Given the description of an element on the screen output the (x, y) to click on. 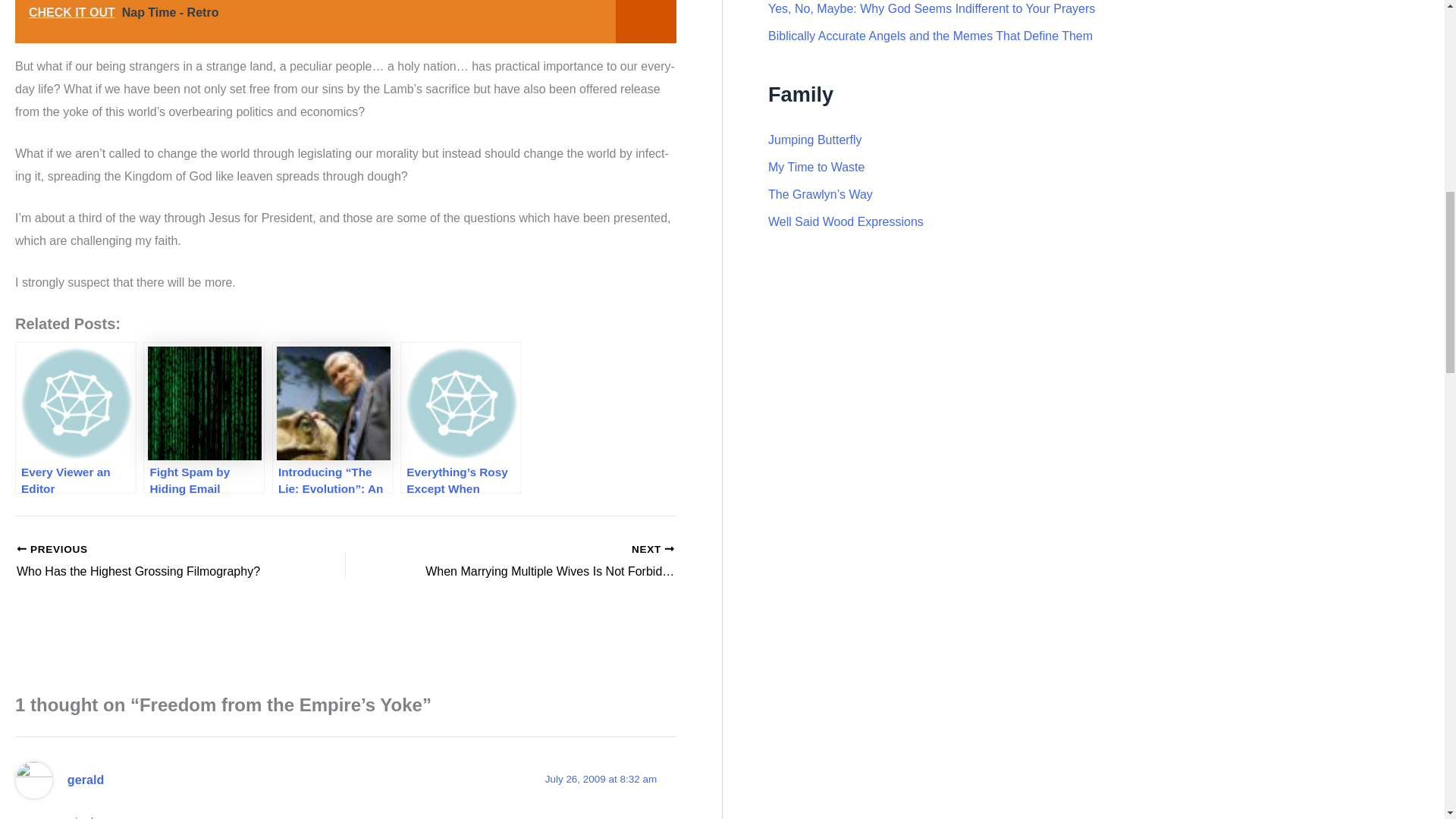
CHECK IT OUT  Nap Time - Retro (345, 21)
my daughter's blog (814, 139)
Who Has the Highest Grossing Filmography? (148, 561)
When Marrying Multiple Wives Is Not Forbidden (542, 561)
my dad's website (816, 166)
my mom's business (845, 221)
